Given the description of an element on the screen output the (x, y) to click on. 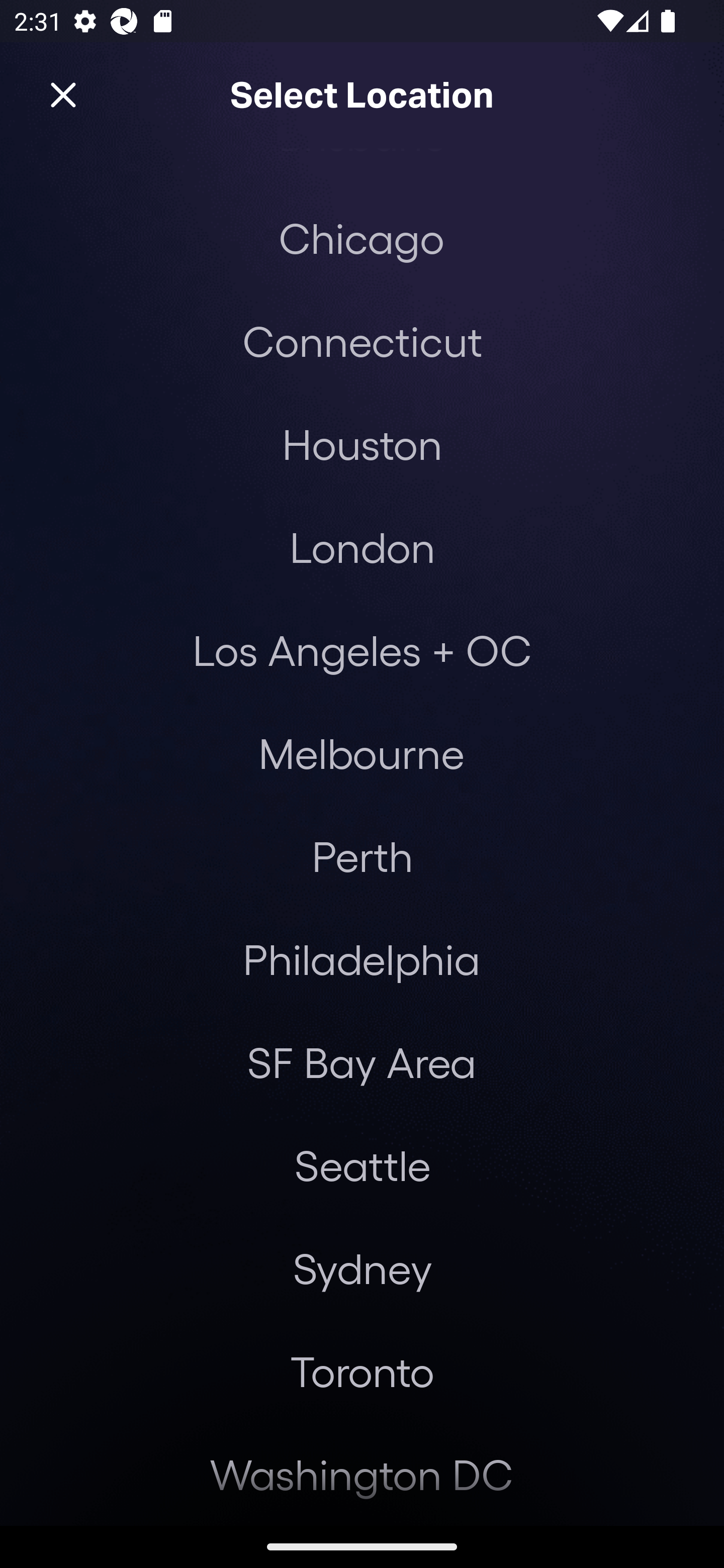
Close (62, 95)
Chicago (361, 238)
Connecticut (361, 341)
Houston (361, 443)
London (361, 546)
Los Angeles + OC (361, 649)
Melbourne (361, 752)
Perth (361, 855)
Philadelphia (361, 959)
SF Bay Area (361, 1062)
Seattle (361, 1164)
Sydney (361, 1268)
Toronto (361, 1371)
Washington DC (361, 1473)
